Given the description of an element on the screen output the (x, y) to click on. 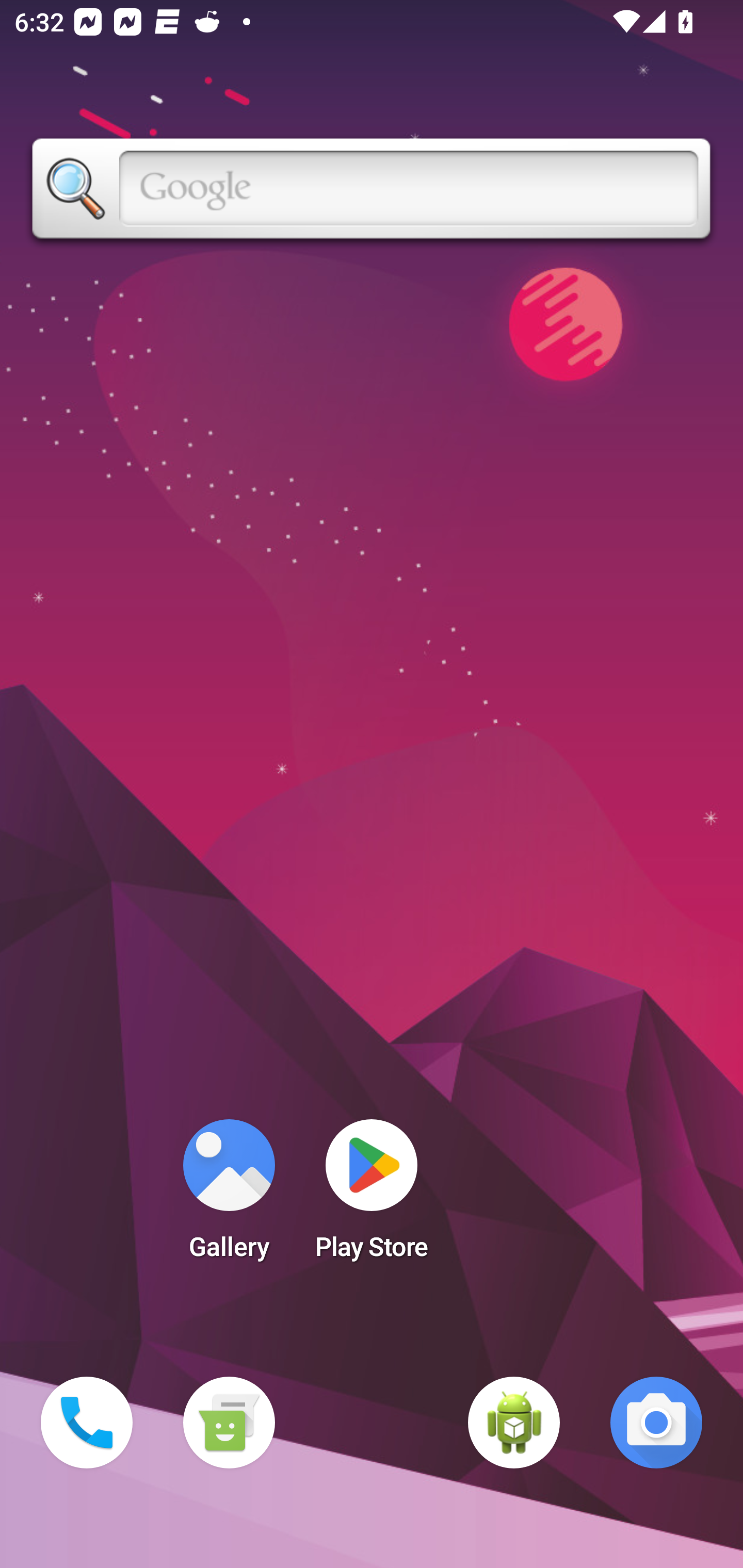
Gallery (228, 1195)
Play Store (371, 1195)
Phone (86, 1422)
Messaging (228, 1422)
WebView Browser Tester (513, 1422)
Camera (656, 1422)
